Given the description of an element on the screen output the (x, y) to click on. 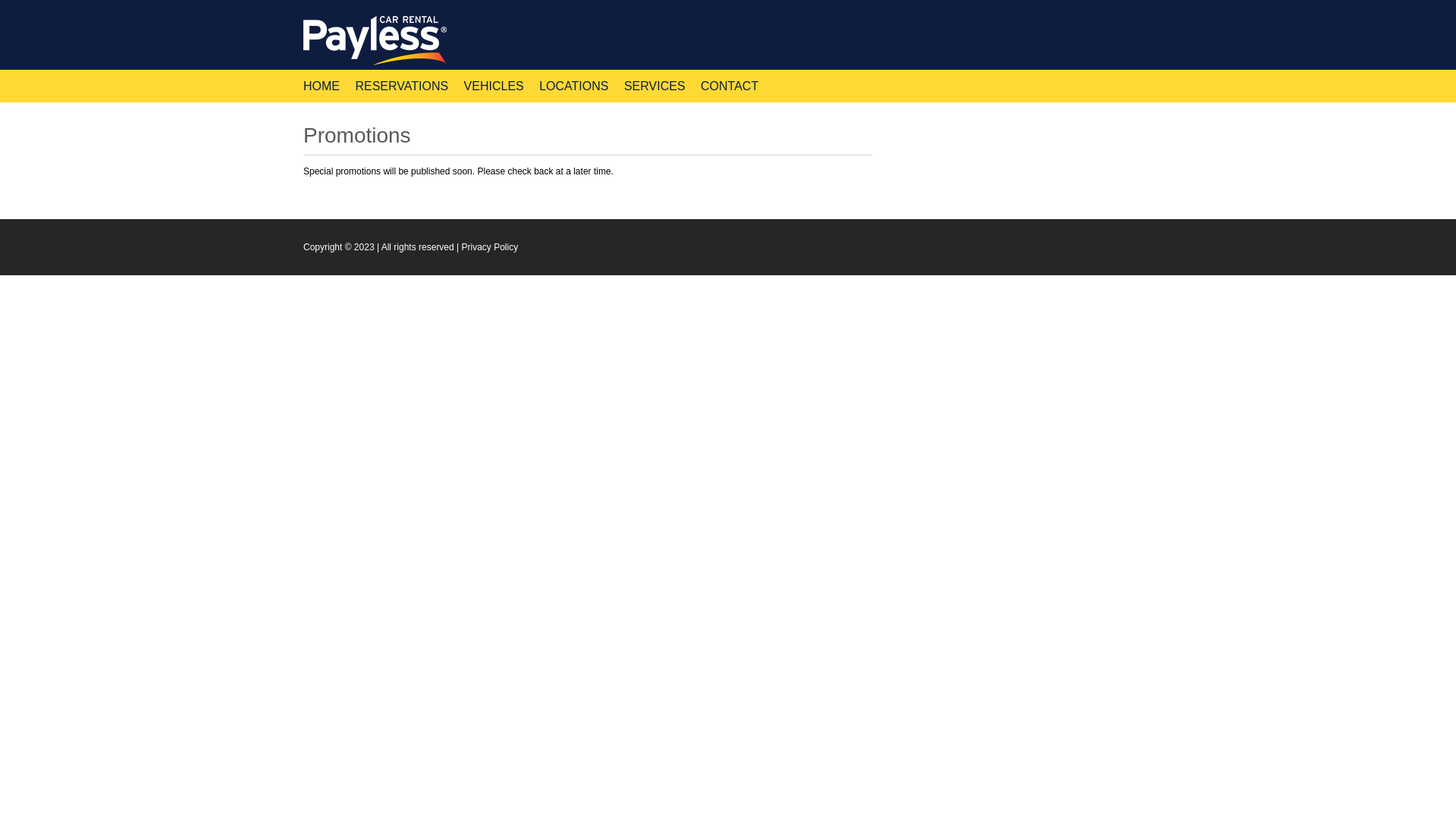
CONTACT Element type: text (729, 85)
LOCATIONS Element type: text (573, 85)
HOME Element type: text (321, 85)
SERVICES Element type: text (654, 85)
VEHICLES Element type: text (494, 85)
Payless Car Rental Aruba Element type: text (378, 40)
RESERVATIONS Element type: text (401, 85)
